Given the description of an element on the screen output the (x, y) to click on. 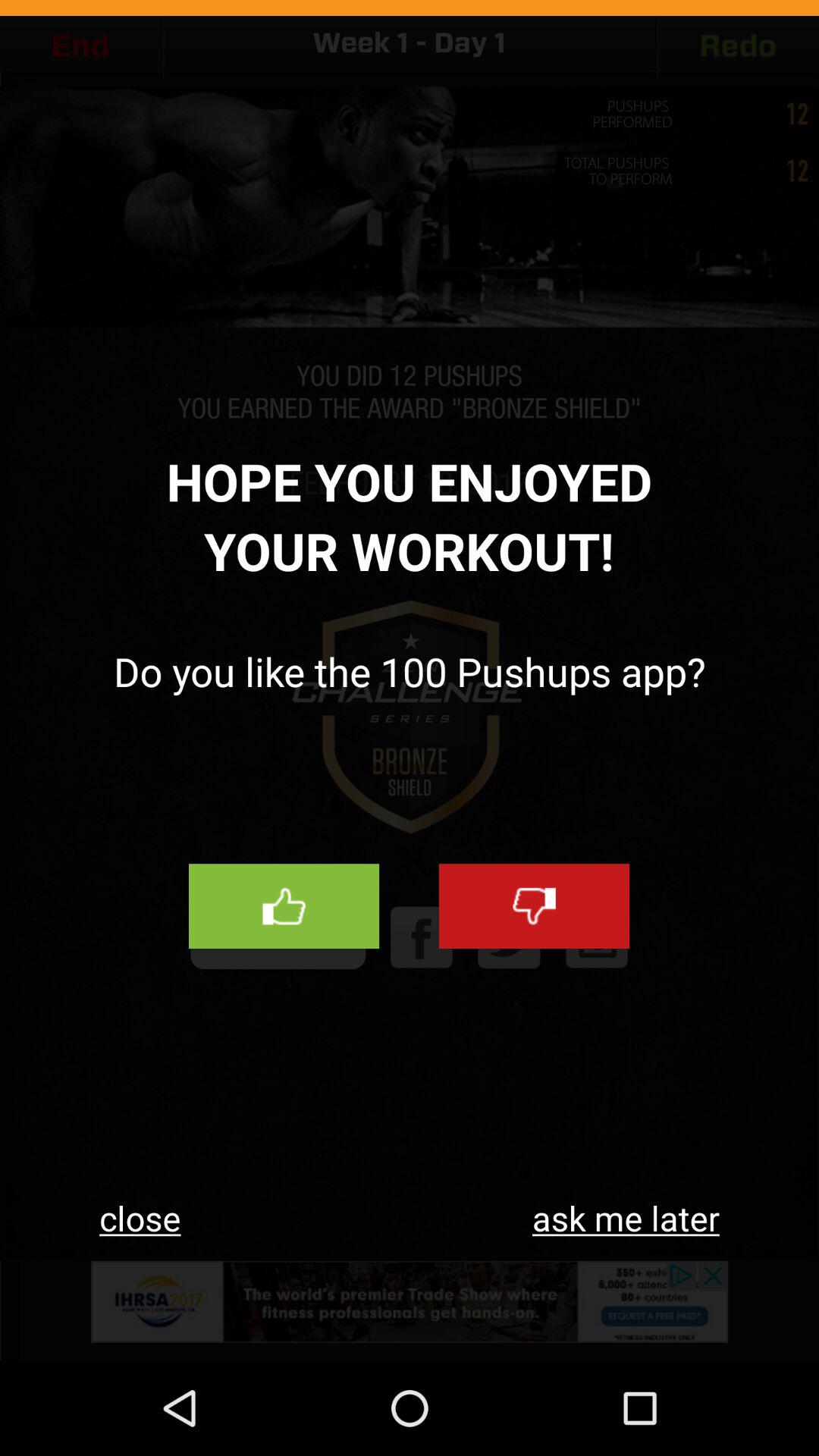
dislike (534, 905)
